Given the description of an element on the screen output the (x, y) to click on. 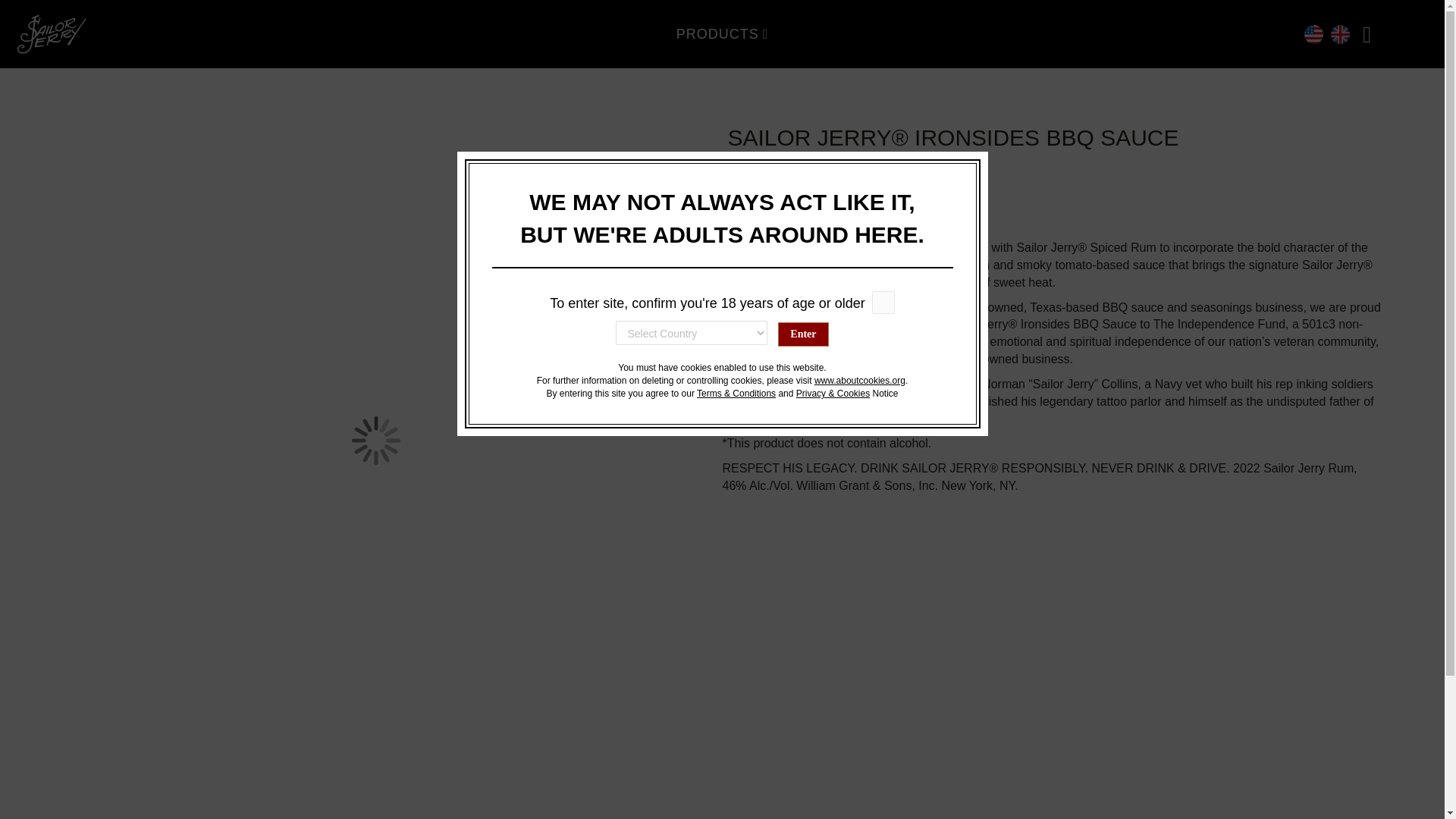
Only 0 left (1053, 216)
www.aboutcookies.org (859, 380)
Enter (802, 334)
Availability (744, 196)
PRODUCTS (722, 33)
on (883, 302)
Product (722, 33)
Shopping Basket (1373, 33)
